Given the description of an element on the screen output the (x, y) to click on. 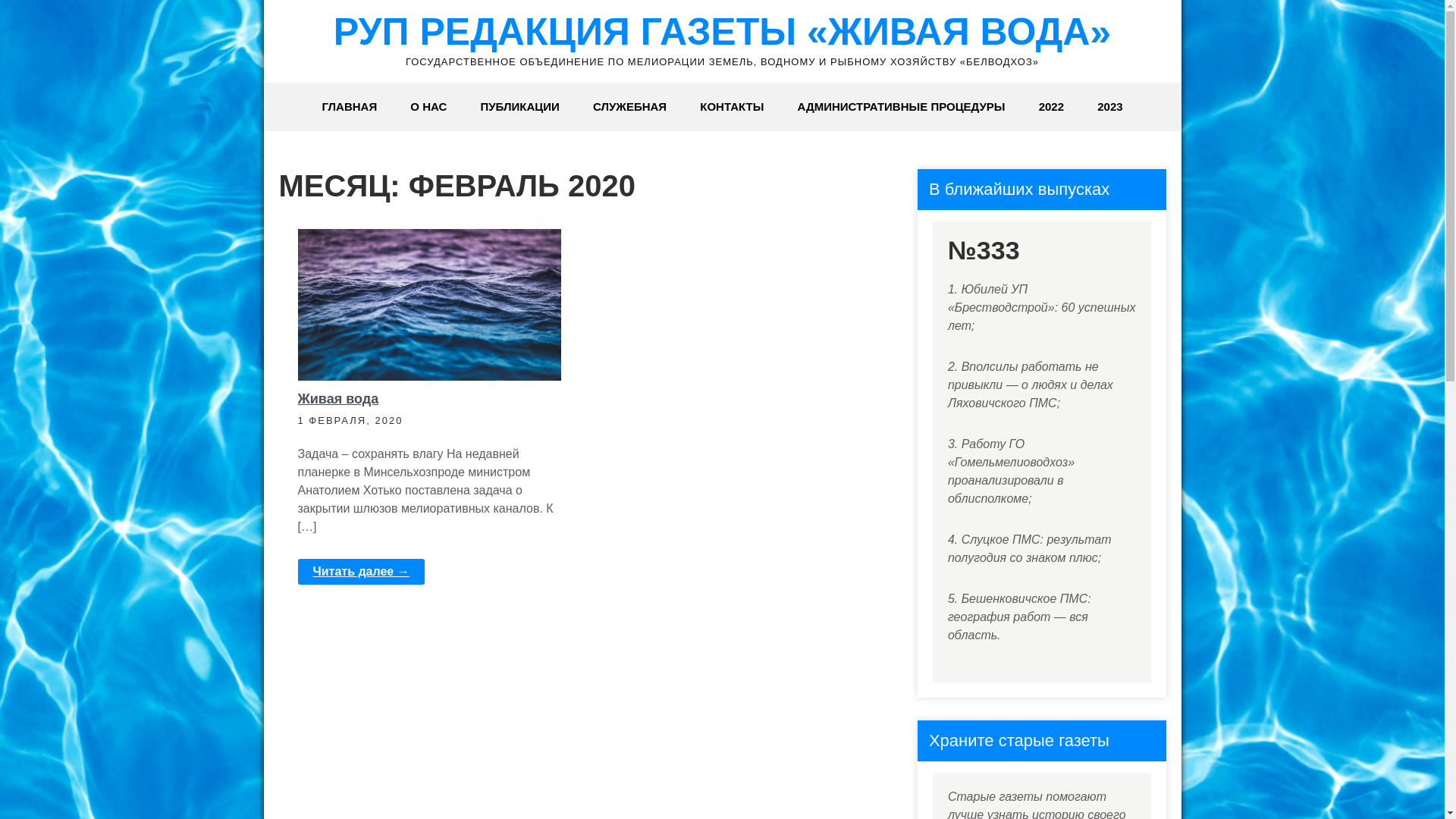
2022 Element type: text (1051, 106)
2023 Element type: text (1109, 106)
